Given the description of an element on the screen output the (x, y) to click on. 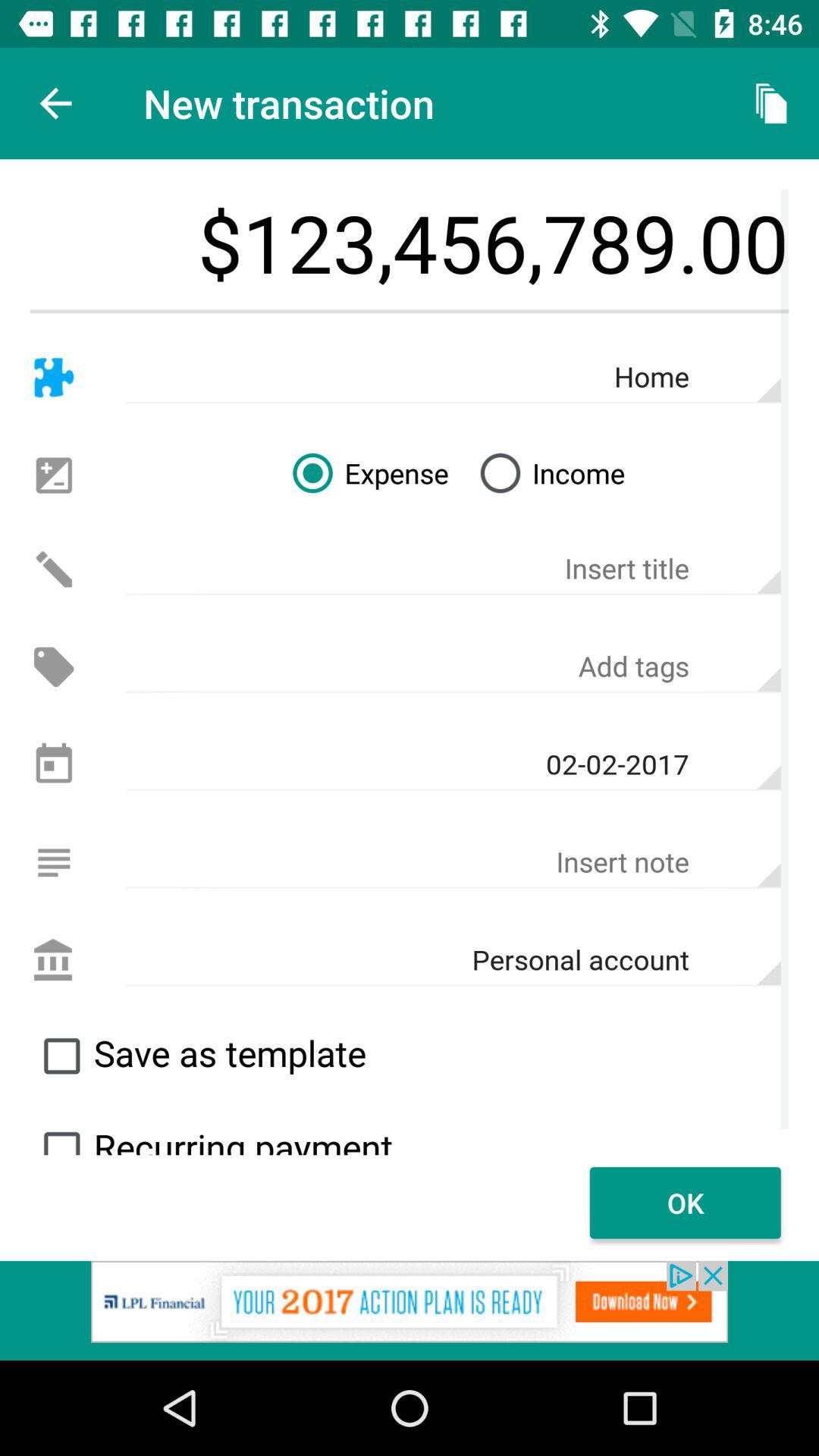
click on advertisement (409, 1310)
